Given the description of an element on the screen output the (x, y) to click on. 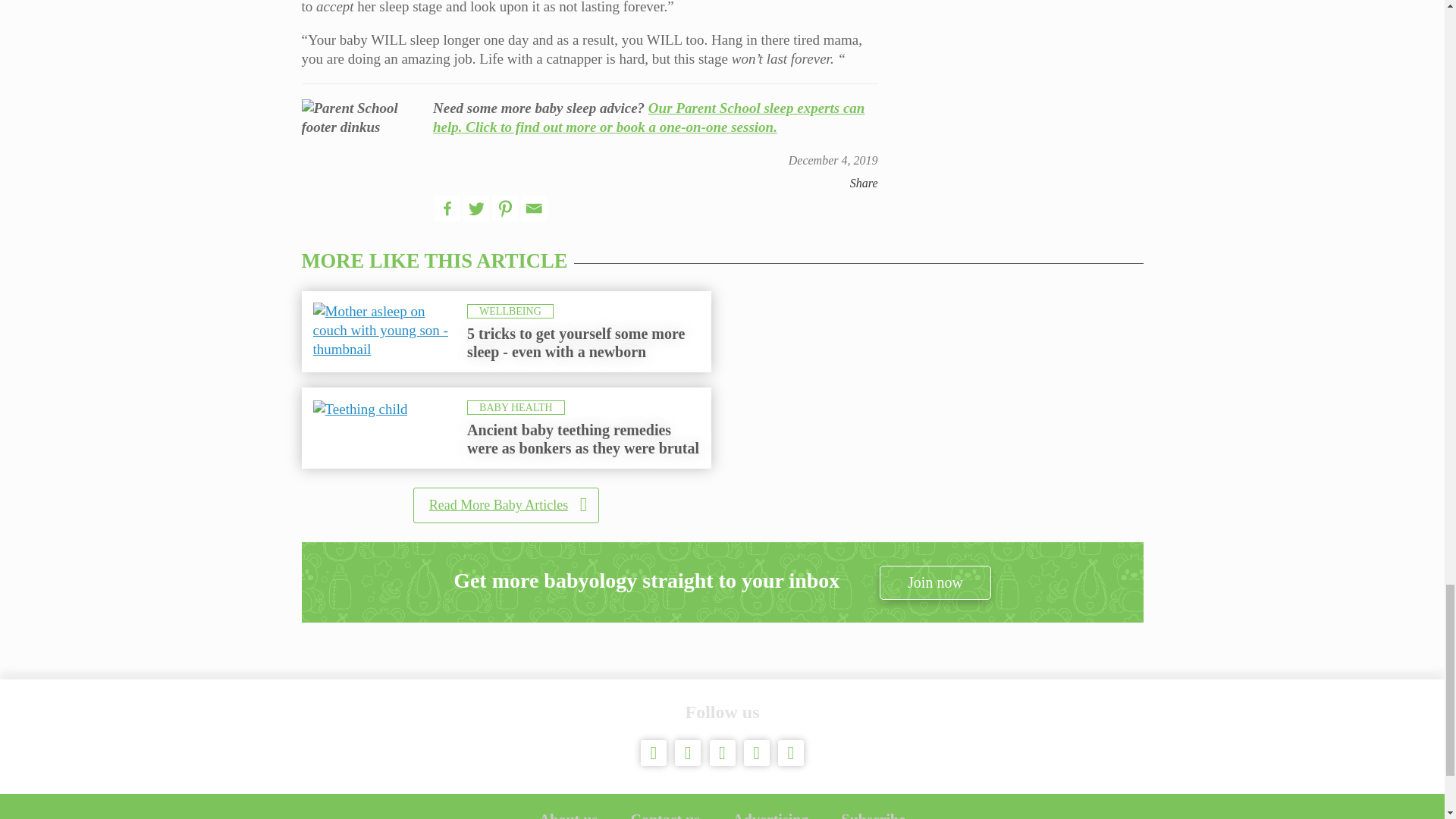
Pinterest (505, 208)
Facebook (446, 208)
Twitter (476, 208)
1:08 pm (833, 160)
